Given the description of an element on the screen output the (x, y) to click on. 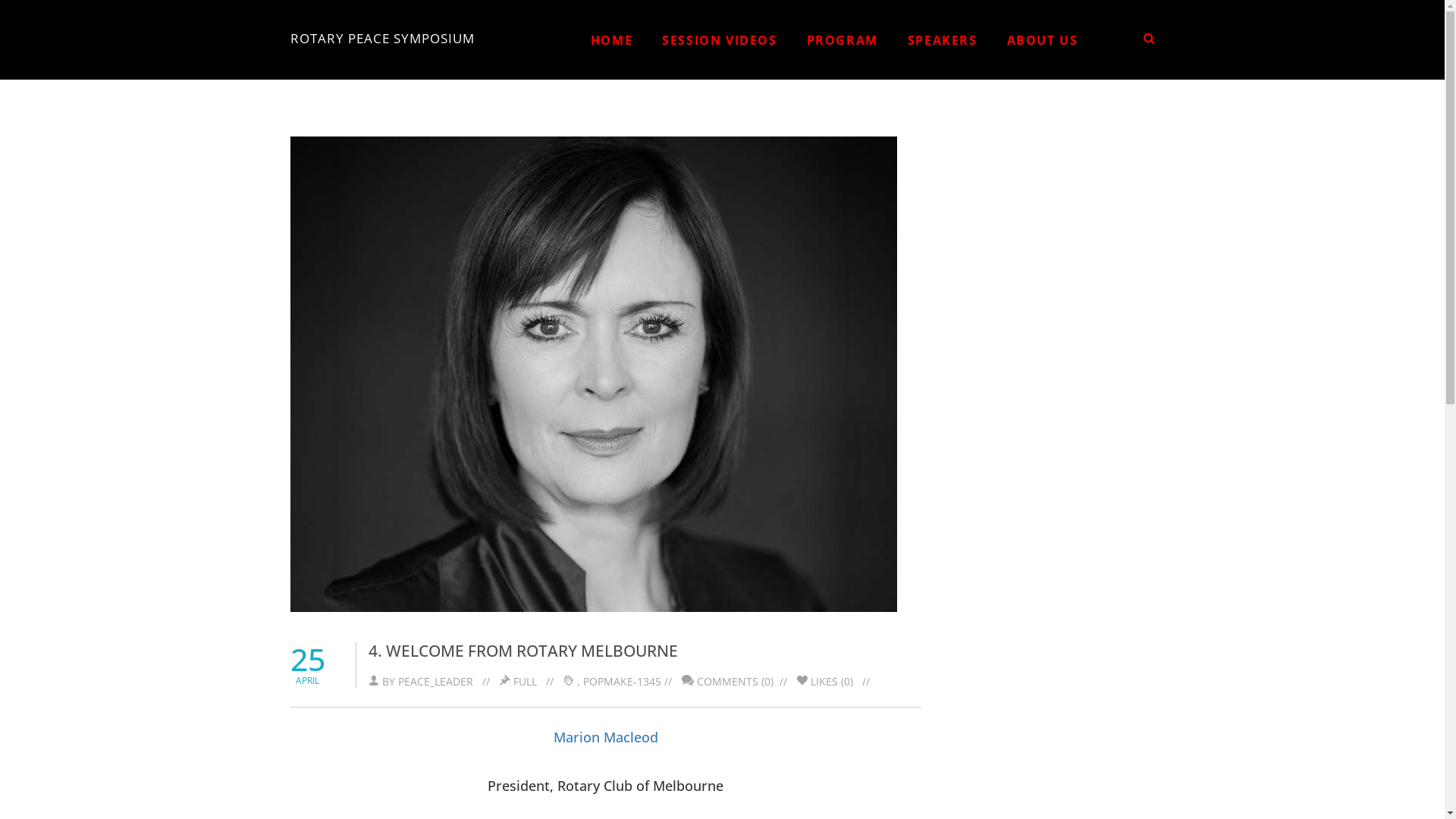
PROGRAM Element type: text (842, 39)
SPEAKERS Element type: text (942, 39)
Marion Macleod Element type: text (605, 737)
ABOUT US Element type: text (1042, 39)
HOME Element type: text (611, 39)
LIKES (0)   // Element type: text (835, 670)
4. WELCOME FROM ROTARY MELBOURNE Element type: text (522, 650)
BY PEACE_LEADER   // Element type: text (433, 670)
FULL Element type: text (524, 681)
SESSION VIDEOS Element type: text (719, 39)
POPMAKE-1345 Element type: text (621, 681)
ROTARY PEACE SYMPOSIUM Element type: text (381, 34)
